Given the description of an element on the screen output the (x, y) to click on. 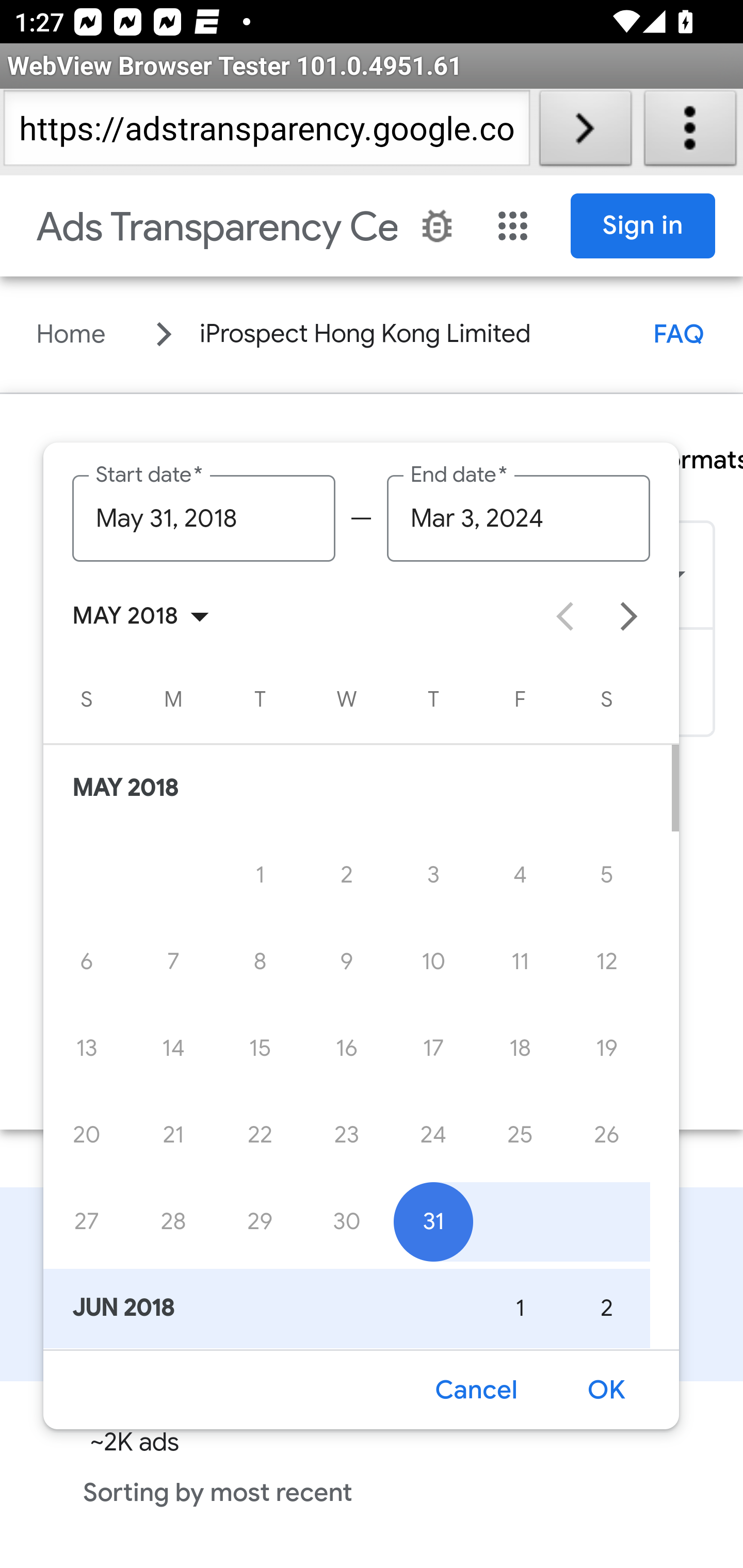
Load URL (585, 132)
About WebView (690, 132)
Send Bug Report (437, 226)
Google apps (513, 226)
Sign in (643, 226)
Home (71, 333)
FAQ (678, 333)
May 31, 2018 (202, 517)
Mar 3, 2024 (518, 517)
MAY 2018 (147, 616)
Previous (564, 616)
Next (629, 616)
Cancel (475, 1389)
Apply selection (606, 1389)
